Given the description of an element on the screen output the (x, y) to click on. 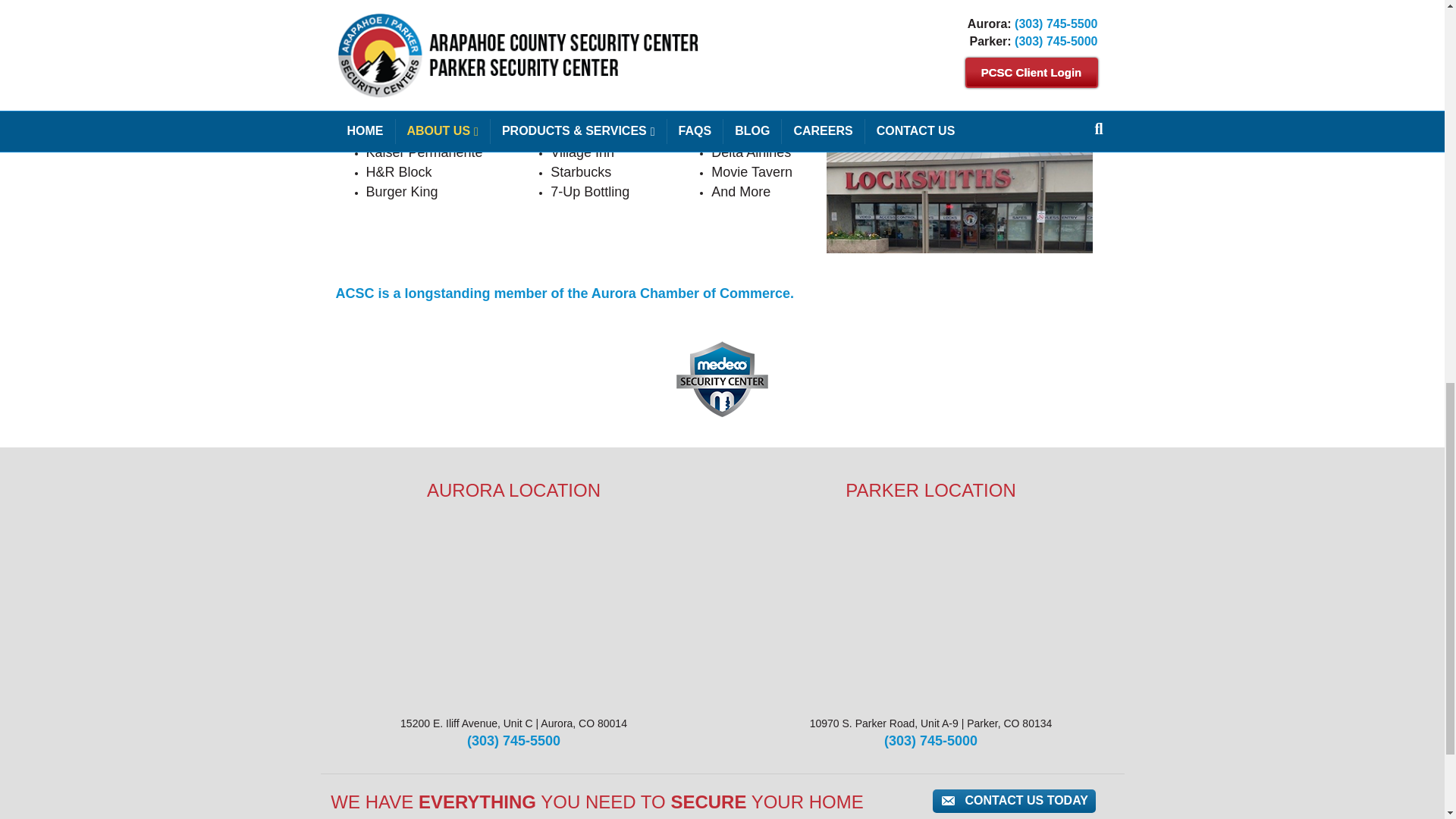
CONTACT US TODAY (1014, 801)
MSC (722, 378)
Arapahoe County Security Center Lock Shop-3 (960, 187)
